Given the description of an element on the screen output the (x, y) to click on. 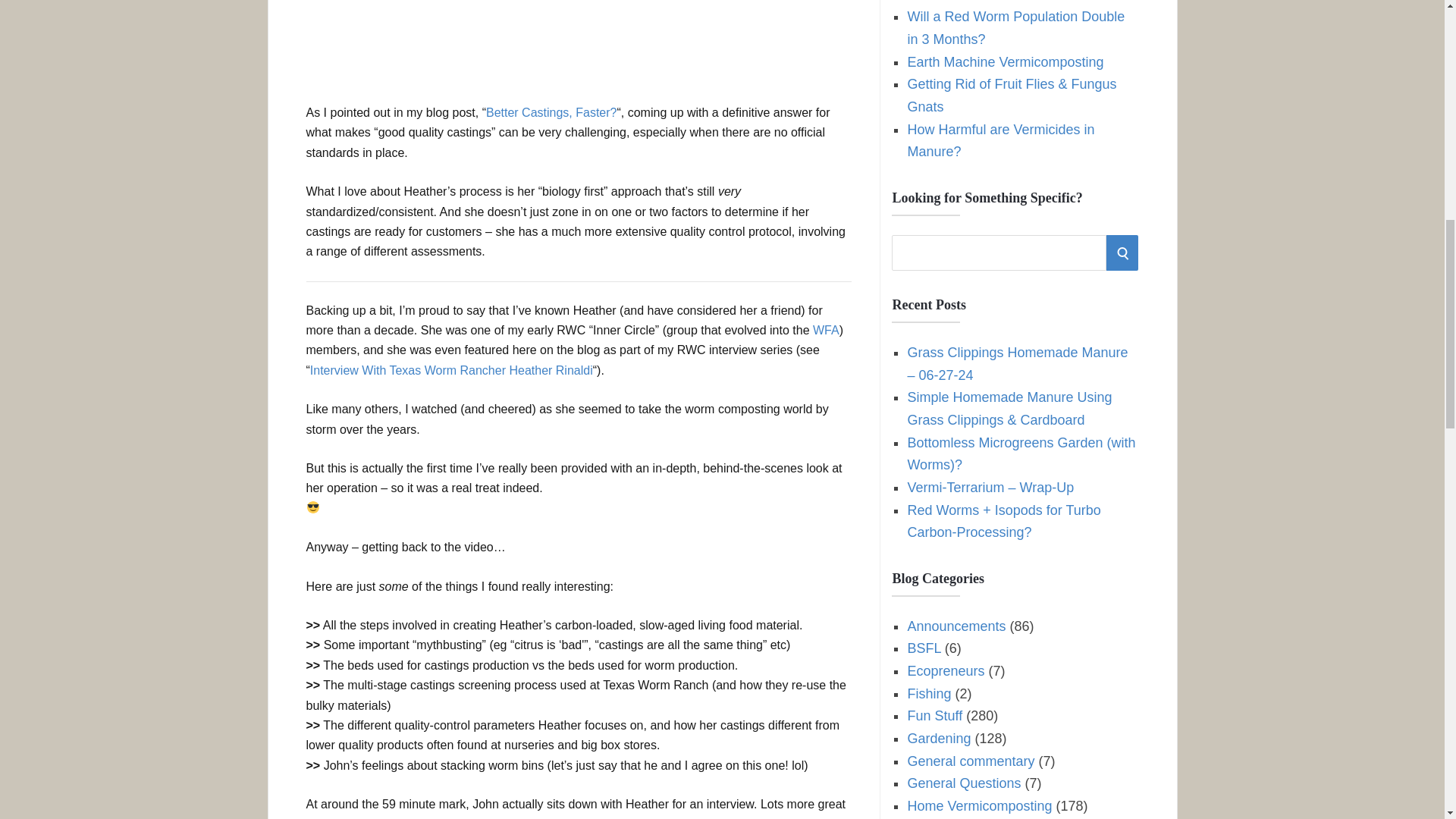
Will a Red Worm Population Double in 3 Months? (1015, 27)
Earth Machine Vermicomposting (1005, 61)
Interview With Texas Worm Rancher Heather Rinaldi (451, 369)
Better Castings, Faster? (551, 112)
How Harmful are Vermicides in Manure? (1000, 140)
The Insurance Bin (962, 1)
WFA (826, 329)
